Given the description of an element on the screen output the (x, y) to click on. 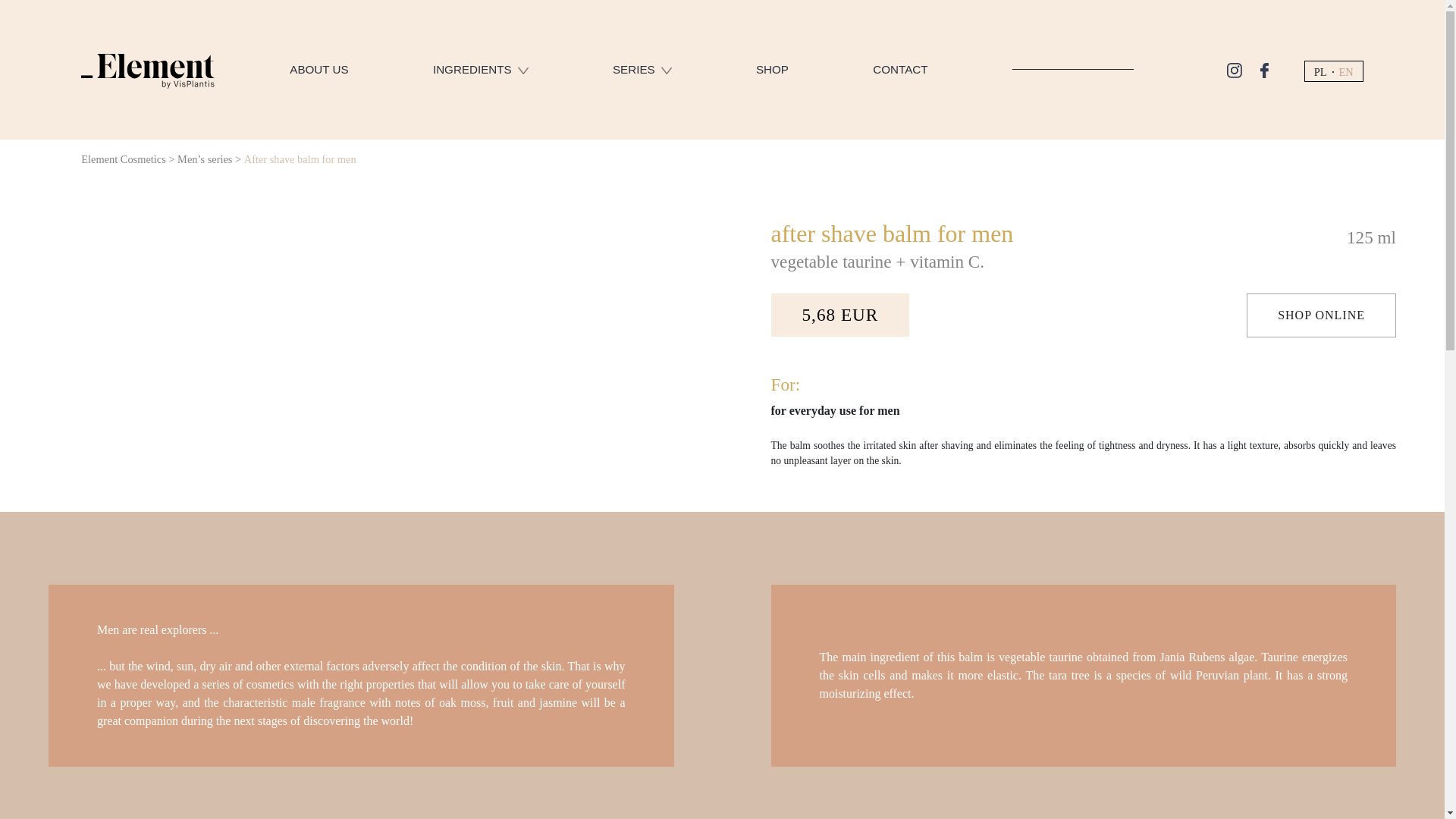
Element Cosmetics (123, 159)
ElementCosmetics (147, 68)
PL (1320, 71)
INGREDIENTS (480, 69)
ABOUT US (318, 69)
CONTACT (899, 69)
EN (1346, 71)
SHOP (772, 69)
SERIES (641, 69)
Go to the Kategoria archives. (204, 159)
SHOP ONLINE (1321, 315)
